Given the description of an element on the screen output the (x, y) to click on. 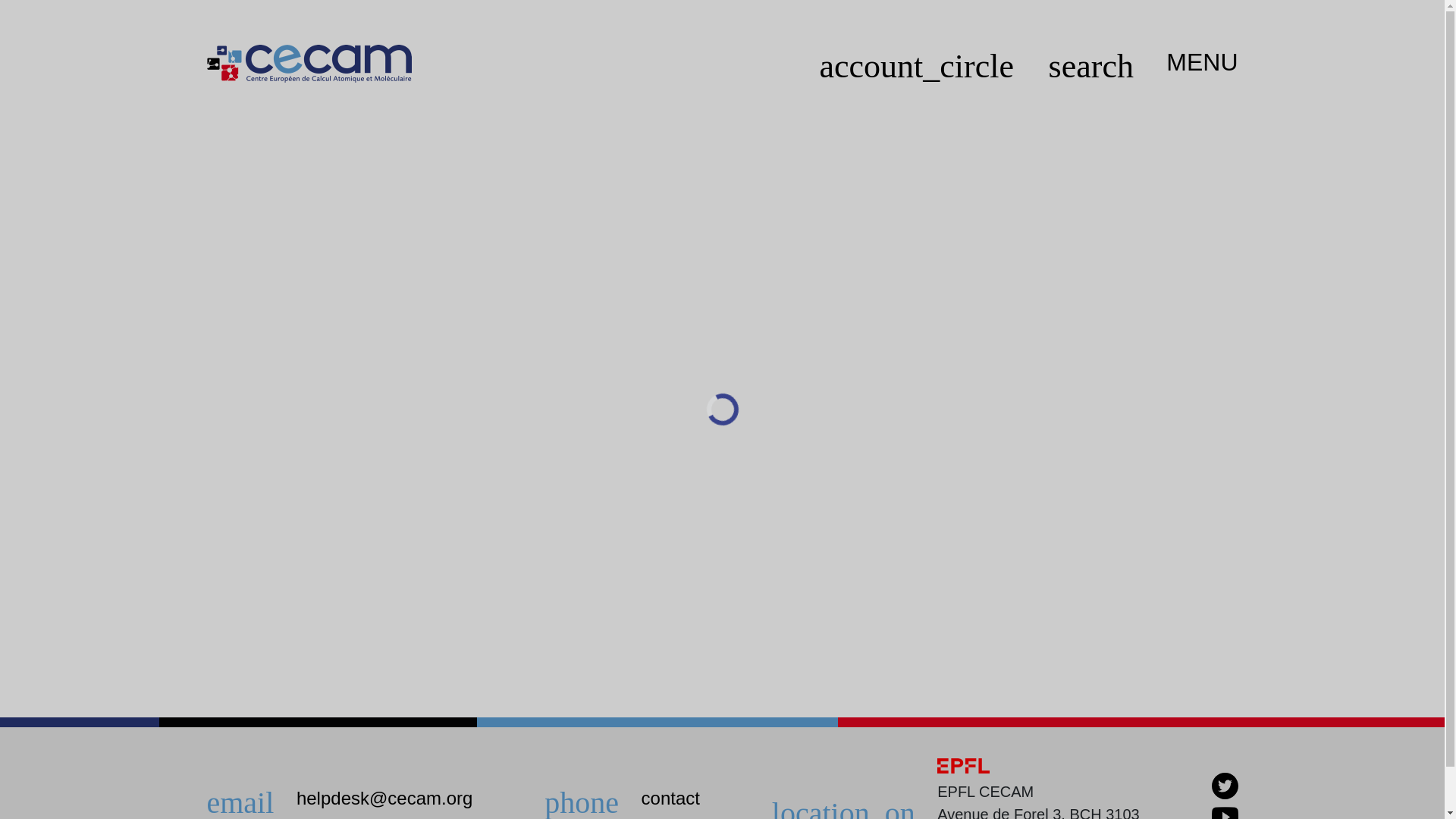
phone (590, 797)
MENU (1195, 62)
email (249, 797)
search (1091, 71)
contact (671, 797)
